Given the description of an element on the screen output the (x, y) to click on. 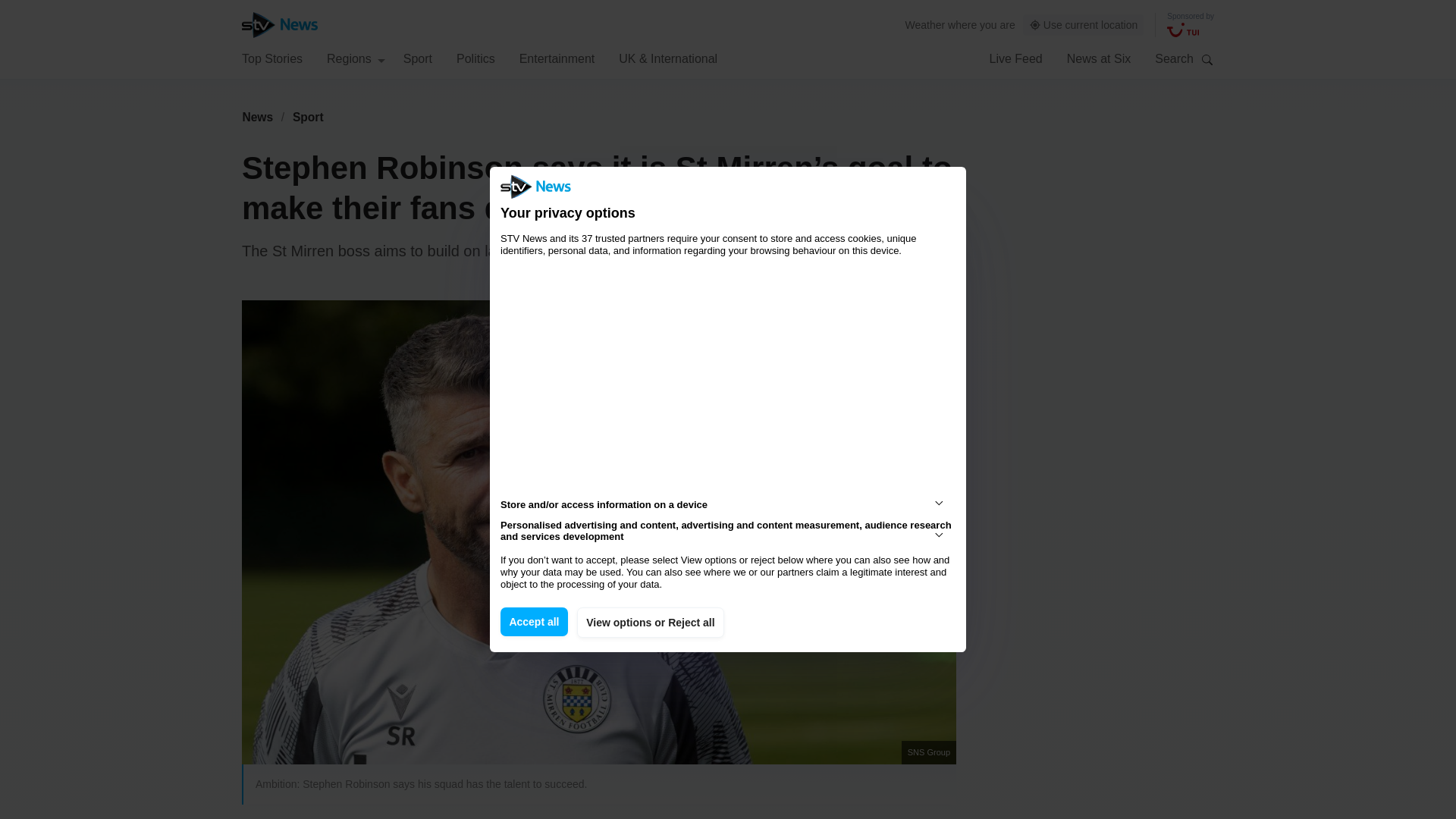
Weather (924, 24)
Politics (476, 57)
Top Stories (271, 57)
Live Feed (1015, 57)
News at Six (1099, 57)
Search (1206, 59)
News (257, 116)
Sport (308, 116)
Use current location (1083, 25)
Entertainment (557, 57)
Regions (355, 57)
